Given the description of an element on the screen output the (x, y) to click on. 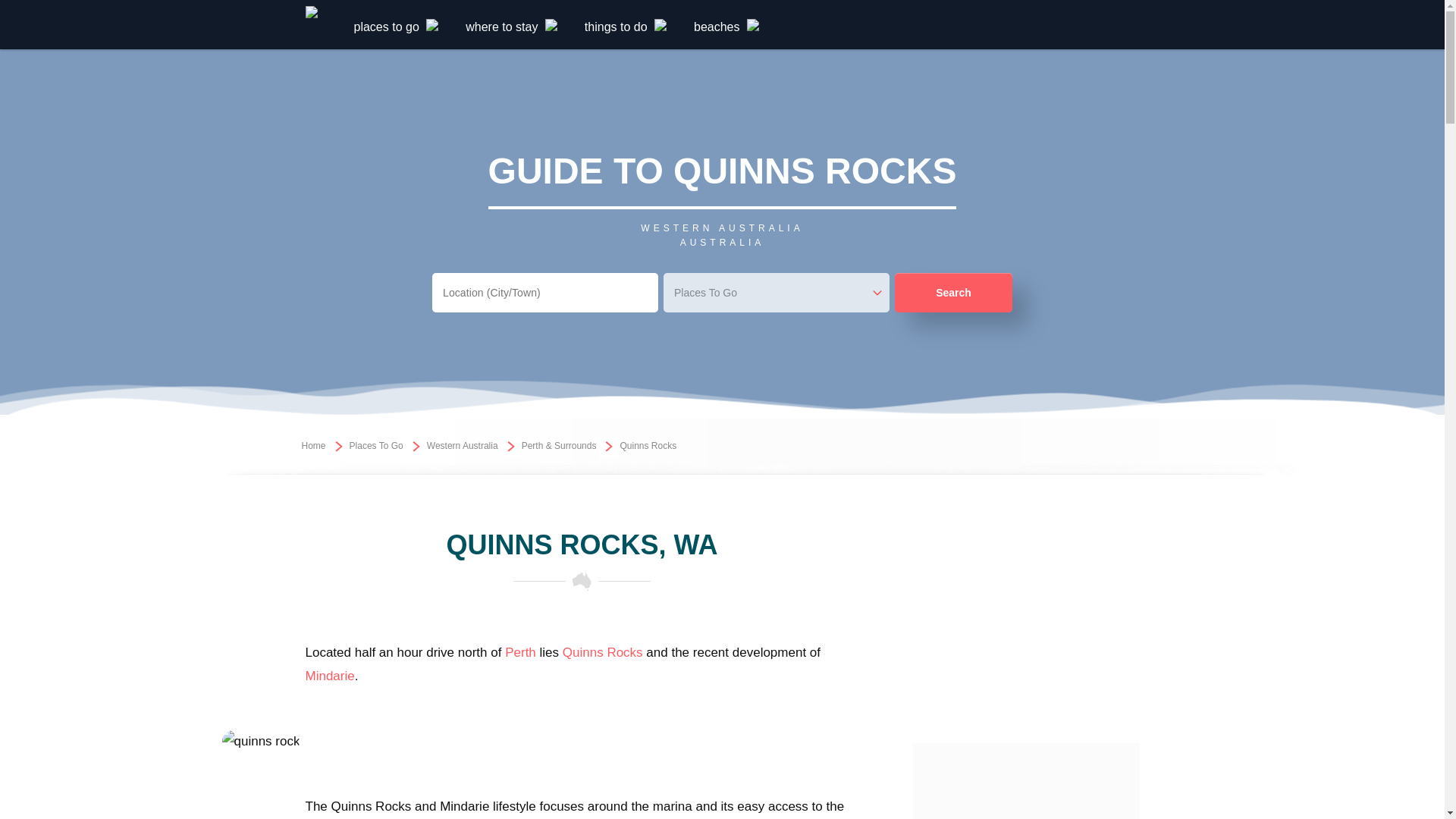
Perth (520, 652)
Home (313, 445)
Quinns Rocks (602, 652)
Western Australia (461, 445)
Places To Go (376, 445)
Mindarie (328, 676)
Advertisement (1024, 780)
Search (953, 292)
